Given the description of an element on the screen output the (x, y) to click on. 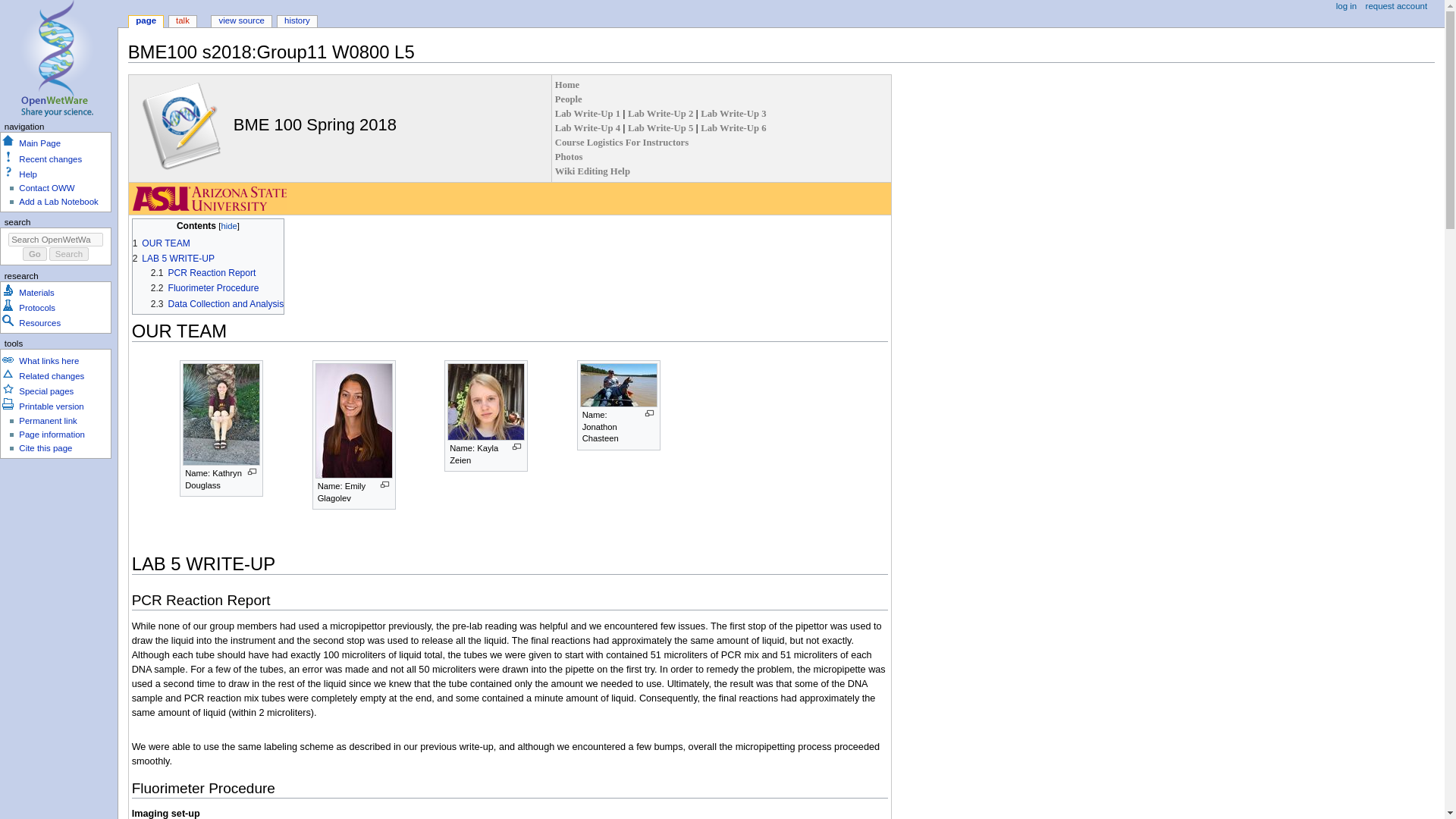
Wiki Editing Help (592, 171)
Lab Write-Up 1 (588, 113)
Go (34, 254)
Photos (568, 156)
BME100 s2018:Projects5 (661, 127)
2.2 Fluorimeter Procedure (205, 287)
BME100 s2018:WikiHelp (592, 171)
Lab Write-Up 5 (661, 127)
Lab Write-Up 3 (732, 113)
BME100 s2018:People (568, 99)
page (146, 21)
2.1 PCR Reaction Report (203, 272)
1 OUR TEAM (161, 243)
2 LAB 5 WRITE-UP (173, 258)
BME100 s2018 (566, 84)
